Given the description of an element on the screen output the (x, y) to click on. 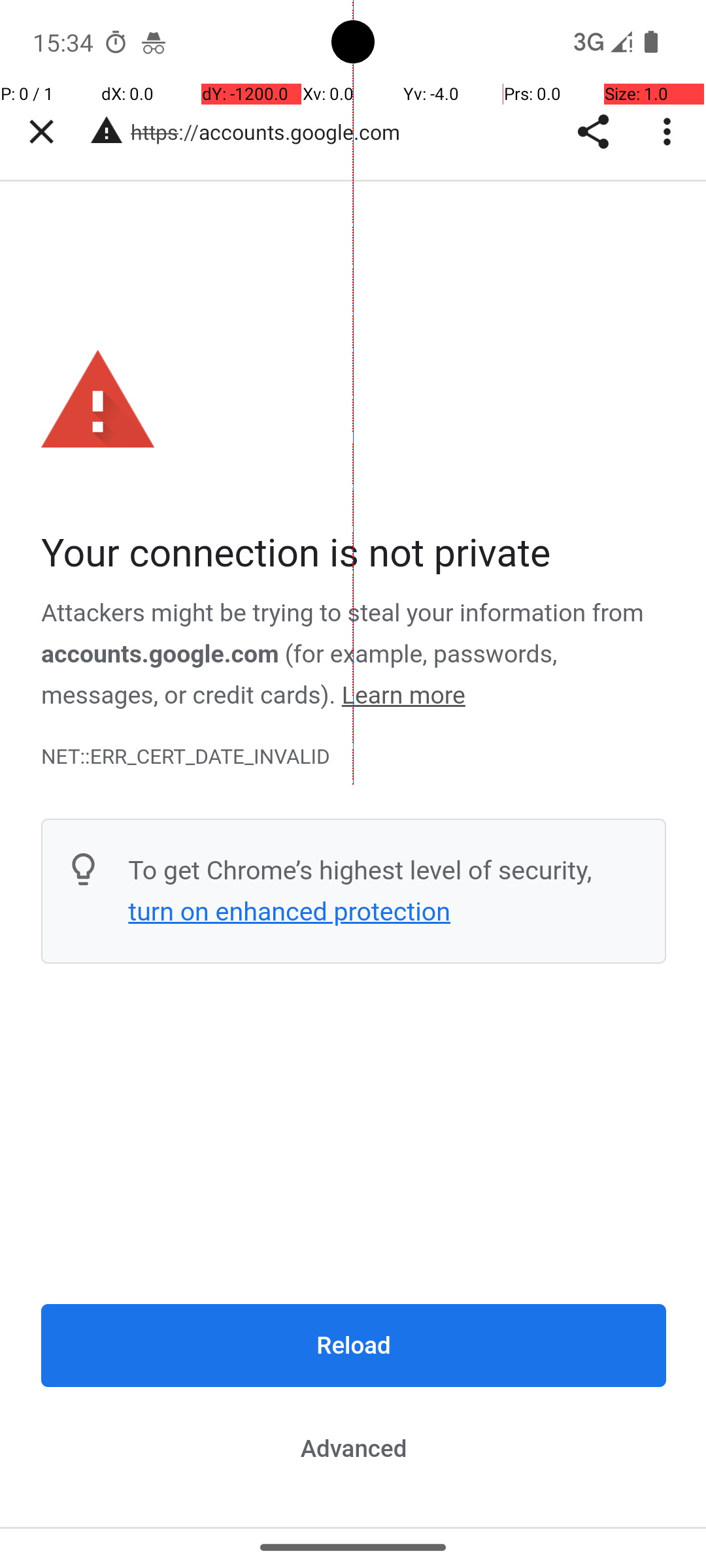
accounts.google.com Element type: android.widget.TextView (237, 131)
